Given the description of an element on the screen output the (x, y) to click on. 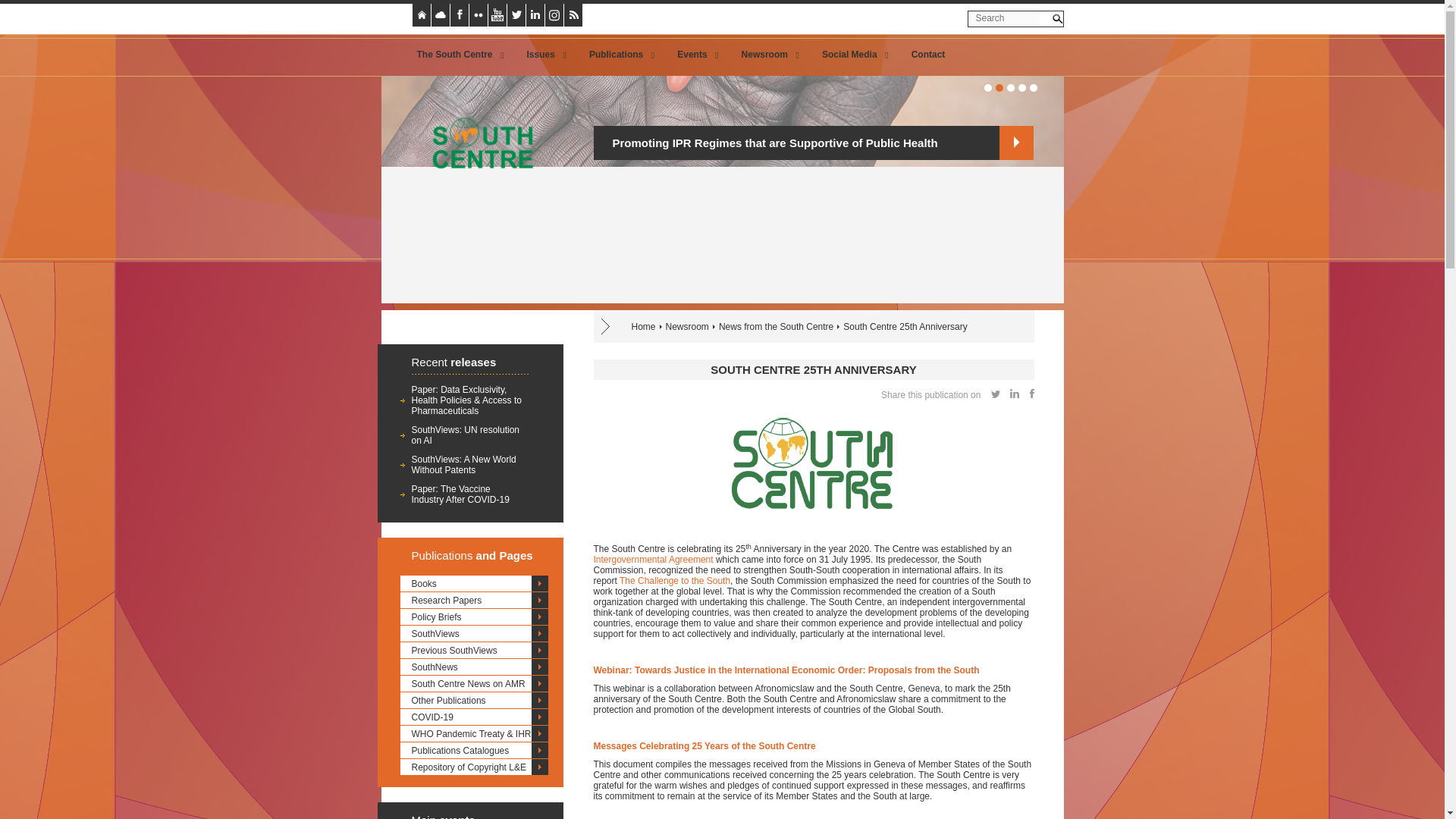
Permalink to: Paper: The Vaccine Industry After COVID-19 (459, 494)
See us on Flickr (486, 14)
Permalink to: SouthViews: UN resolution on AI (464, 435)
Subscribe to our RSS feed (581, 14)
Search (1056, 18)
Go to home. (642, 326)
Follow us on LinkedIn (534, 15)
Issues (542, 54)
Search (1056, 18)
Permalink to: SouthViews: A New World Without Patents (462, 464)
Go to our Cloud (448, 14)
Go to the News from the South Centre category archives. (775, 326)
The South Centre (456, 54)
Go to Homepage (477, 210)
Follow us on Twitter (524, 14)
